Given the description of an element on the screen output the (x, y) to click on. 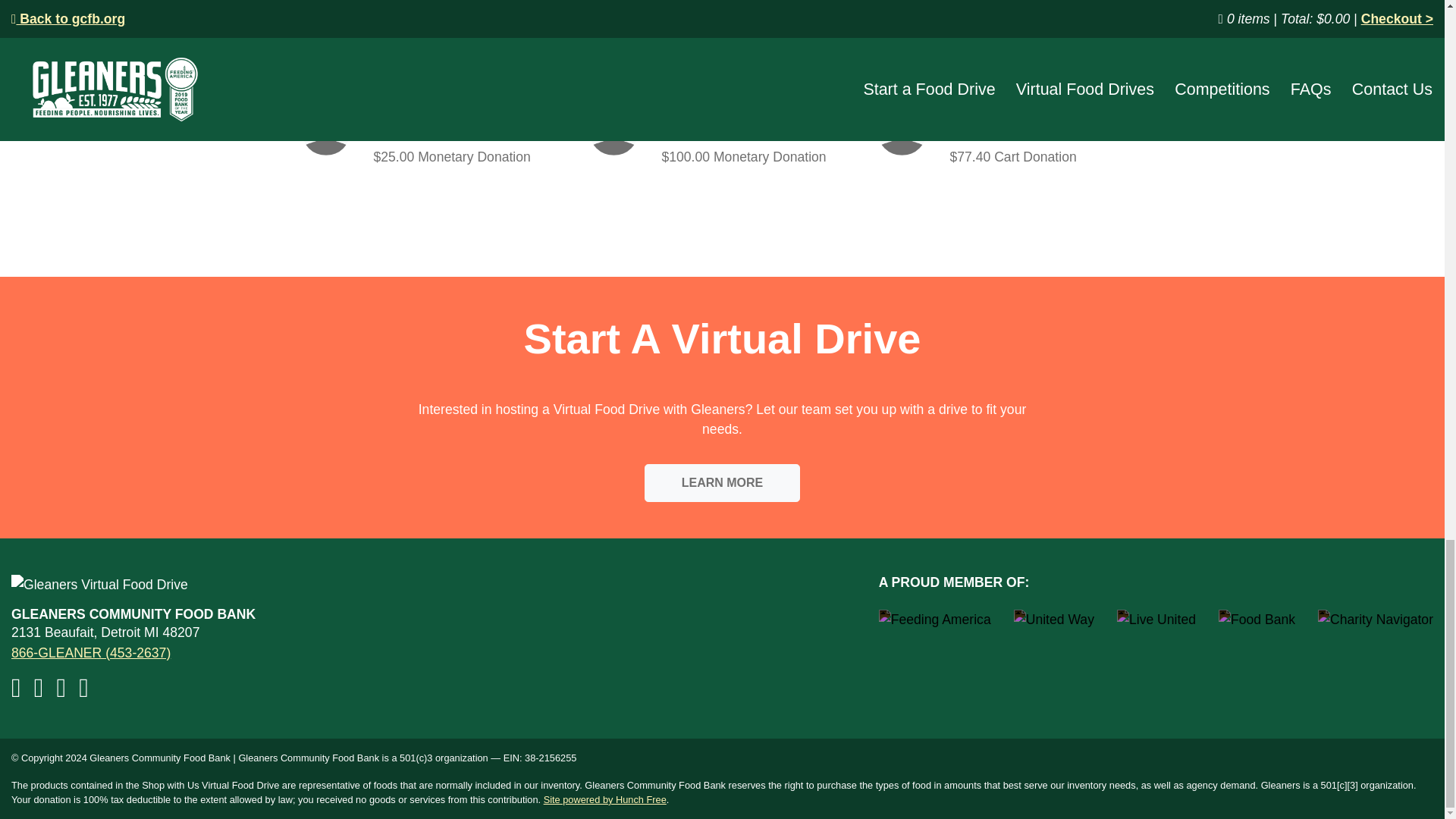
LEARN MORE (722, 483)
Site powered by Hunch Free (604, 799)
